Given the description of an element on the screen output the (x, y) to click on. 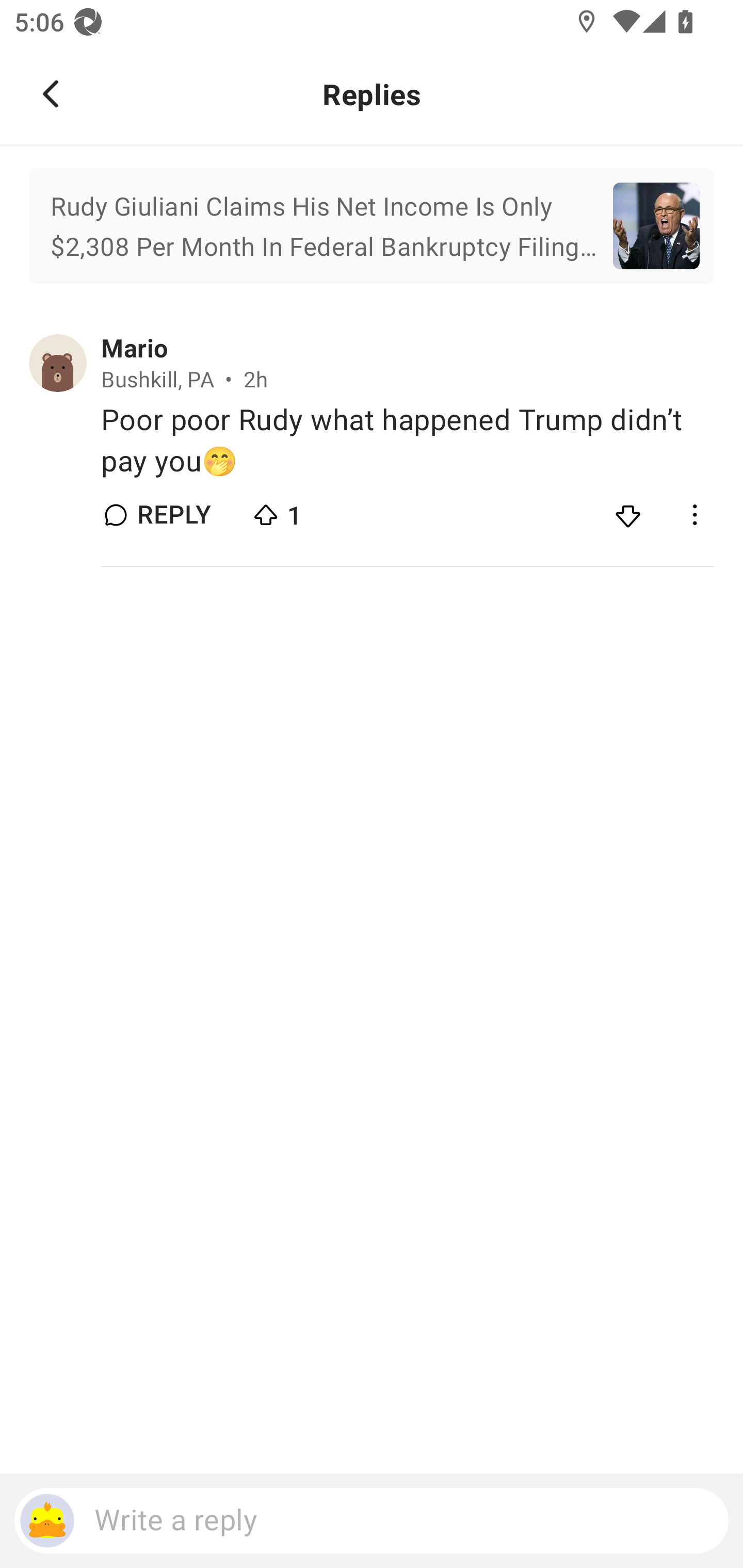
Navigate up (50, 93)
Mario (134, 348)
Poor poor Rudy what happened Trump didn’t pay you🤭 (407, 440)
1 (320, 510)
REPLY (173, 515)
Write a reply (371, 1520)
